Given the description of an element on the screen output the (x, y) to click on. 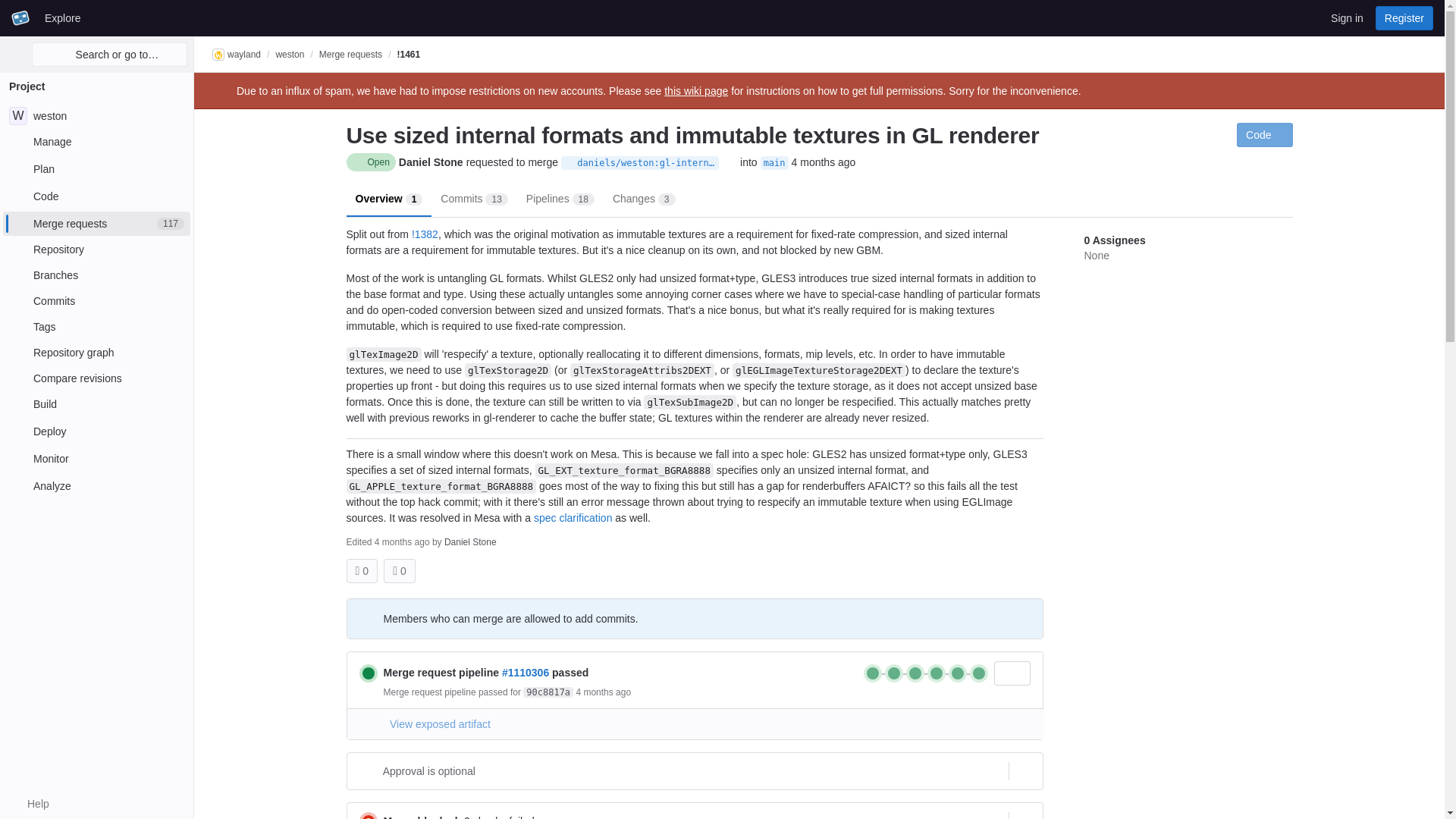
Code (96, 196)
Homepage (96, 115)
thumbs down sign (20, 17)
Manage (96, 223)
Support GL fixed-rate compression, use formats consistently (395, 570)
Commits (96, 141)
main (425, 233)
Explore (96, 300)
The source project is a fork (774, 162)
Merge request checks: passed (62, 17)
Deploy (569, 163)
Register (872, 673)
Analyze (96, 431)
